Given the description of an element on the screen output the (x, y) to click on. 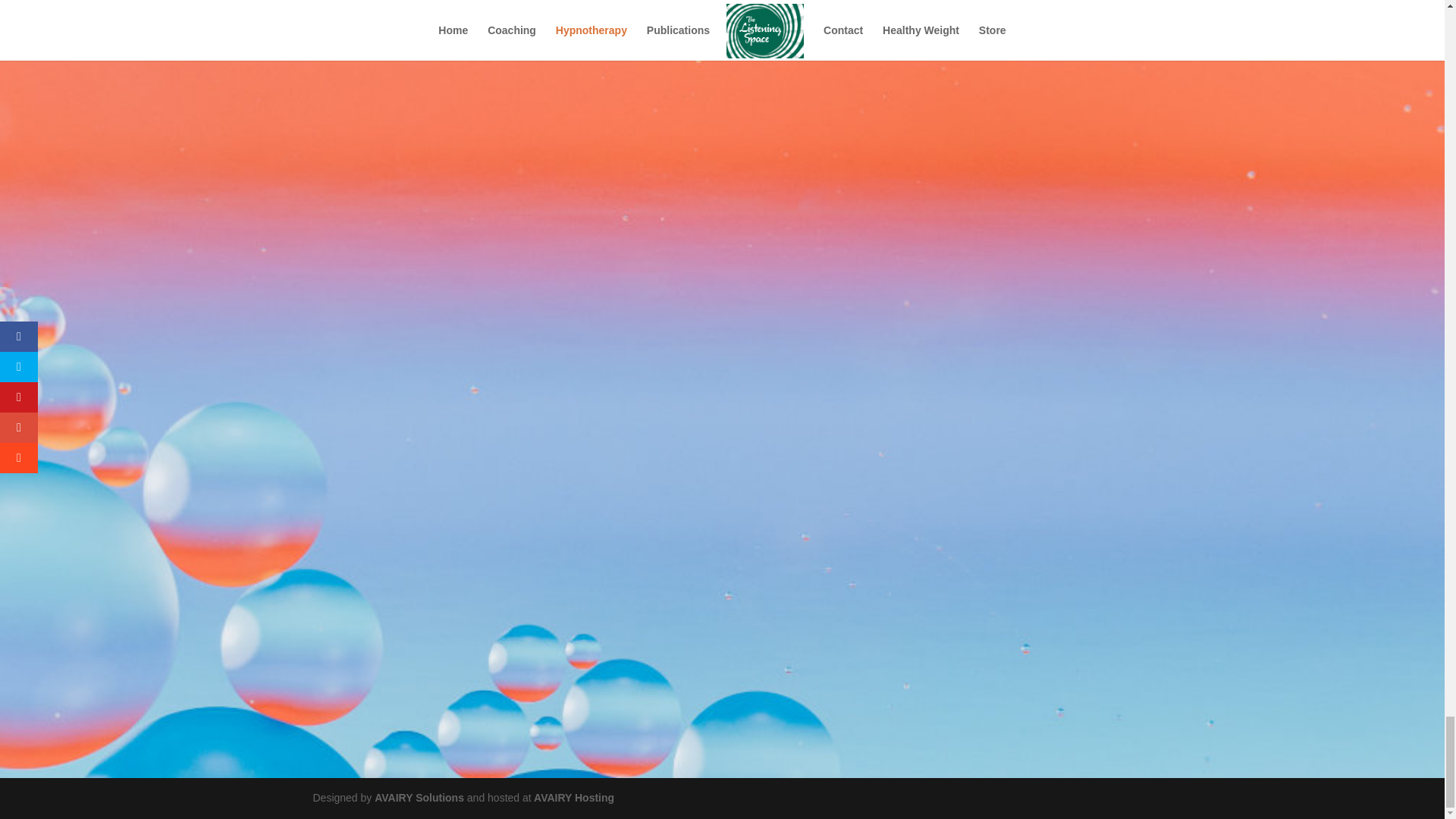
AVAIRY Hosting (572, 797)
AVAIRY Solutions (420, 797)
